Given the description of an element on the screen output the (x, y) to click on. 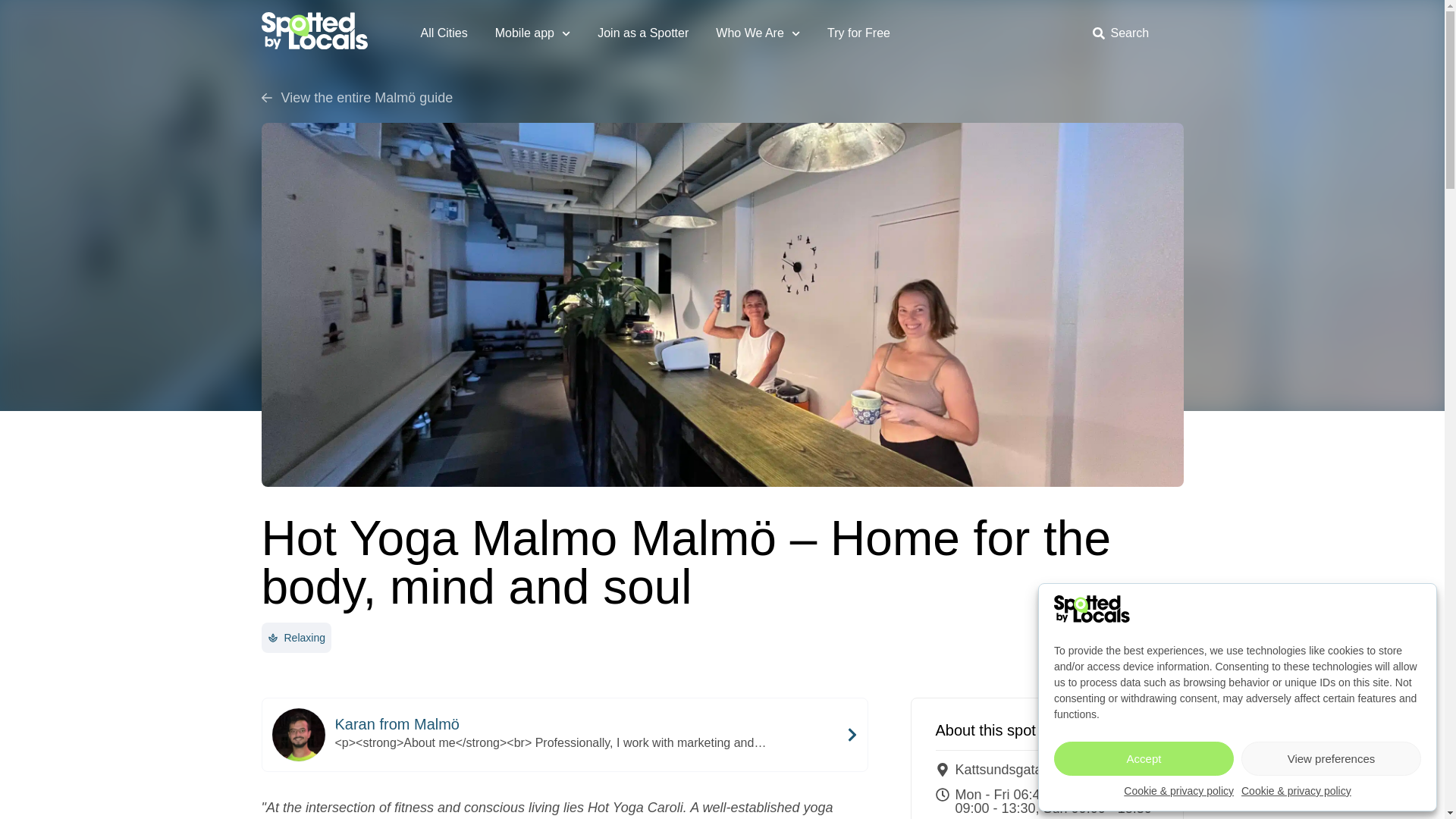
All Cities (443, 33)
Join as a Spotter (642, 33)
Mobile app (532, 33)
Accept (1143, 758)
Try for Free (858, 33)
View preferences (1331, 758)
Who We Are (758, 33)
